Given the description of an element on the screen output the (x, y) to click on. 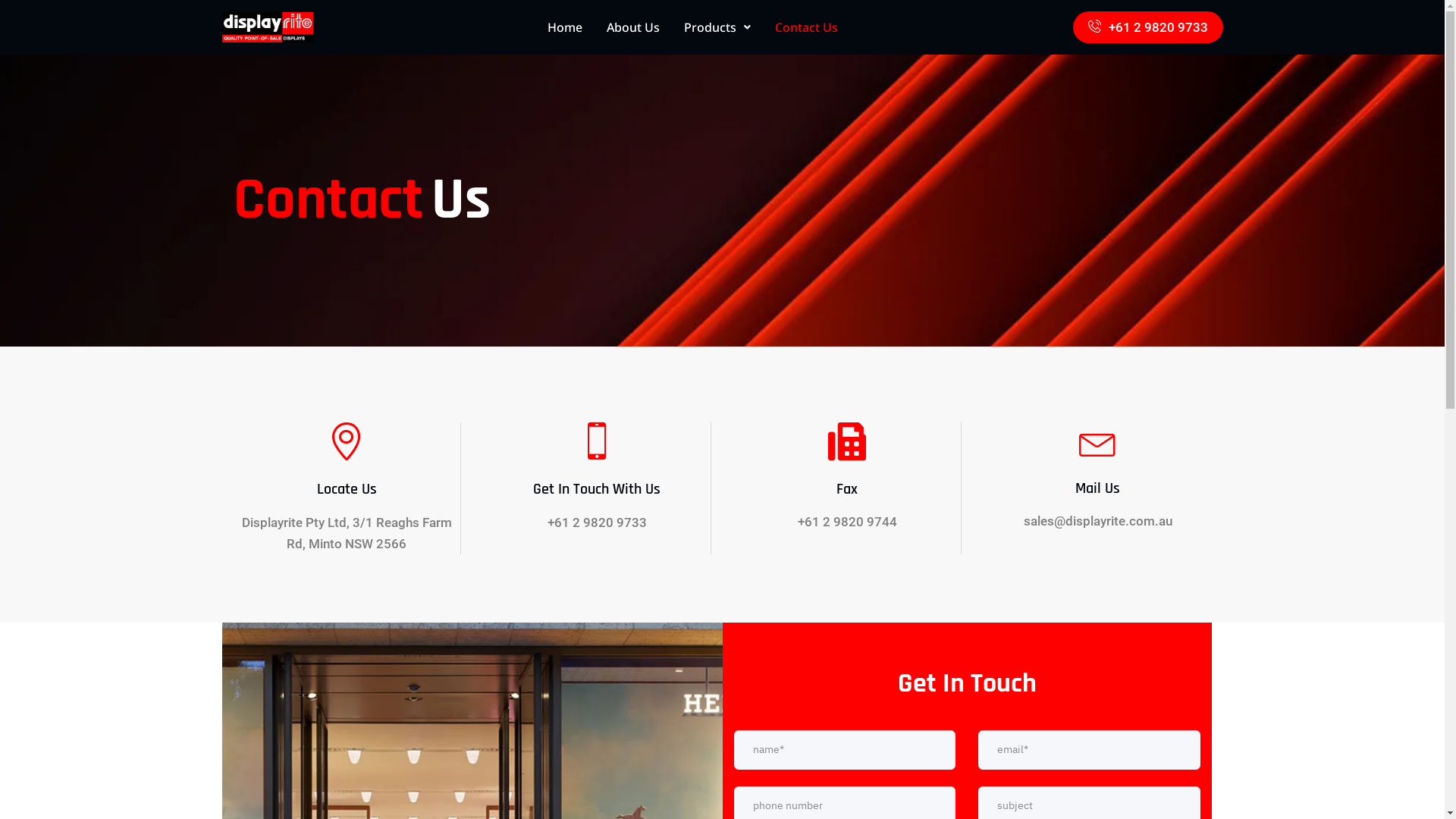
Displayrite Pty Ltd, 3/1 Reaghs Farm Rd, Minto NSW 2566 Element type: text (346, 532)
+61 2 9820 9733 Element type: text (1147, 27)
Home Element type: text (564, 27)
Products Element type: text (716, 27)
Contact Us Element type: text (806, 27)
+61 2 9820 9744 Element type: text (847, 521)
+61 2 9820 9733 Element type: text (596, 522)
About Us Element type: text (632, 27)
sales@displayrite.com.au Element type: text (1097, 520)
